Given the description of an element on the screen output the (x, y) to click on. 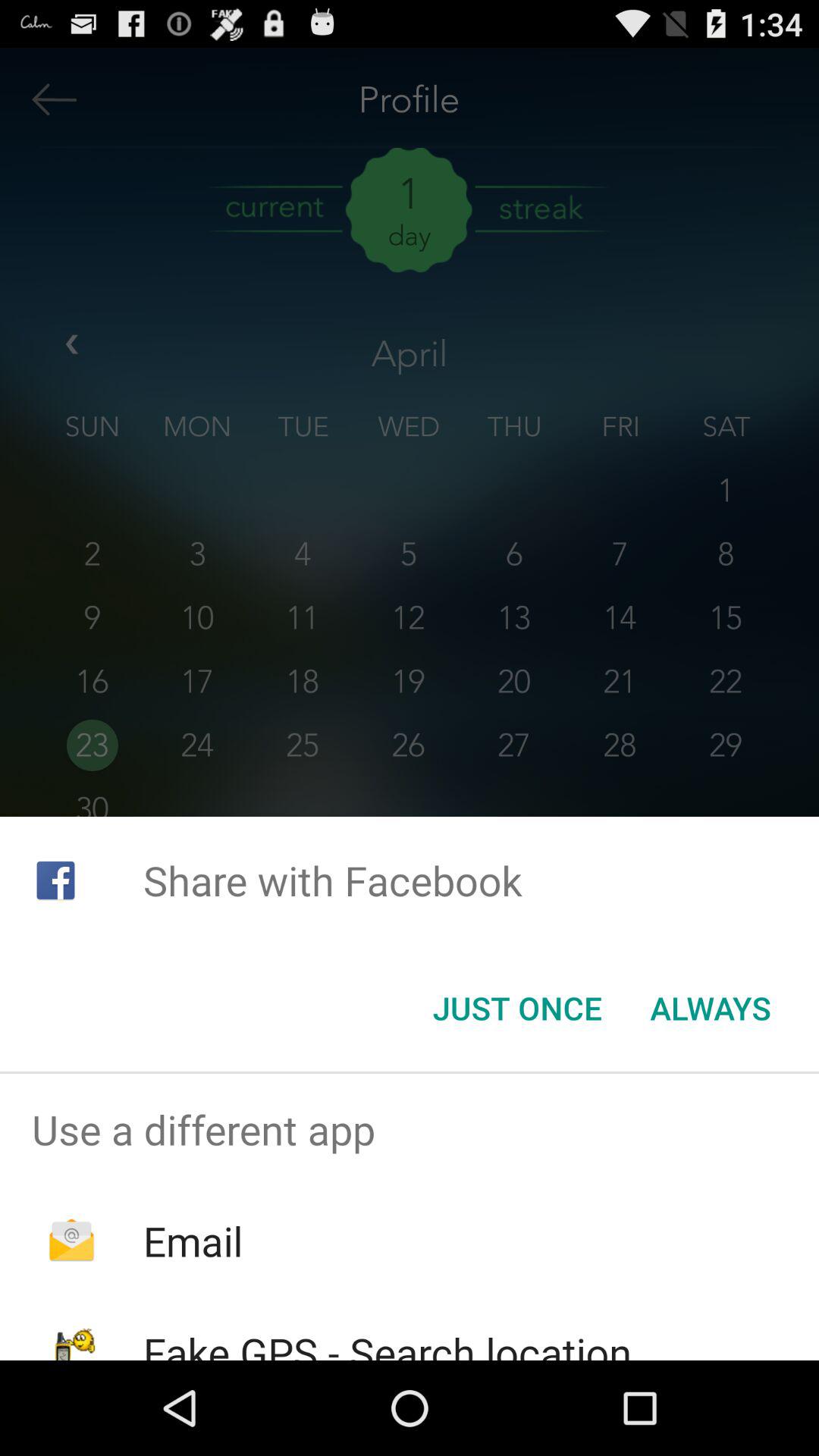
launch icon next to the just once icon (710, 1007)
